Given the description of an element on the screen output the (x, y) to click on. 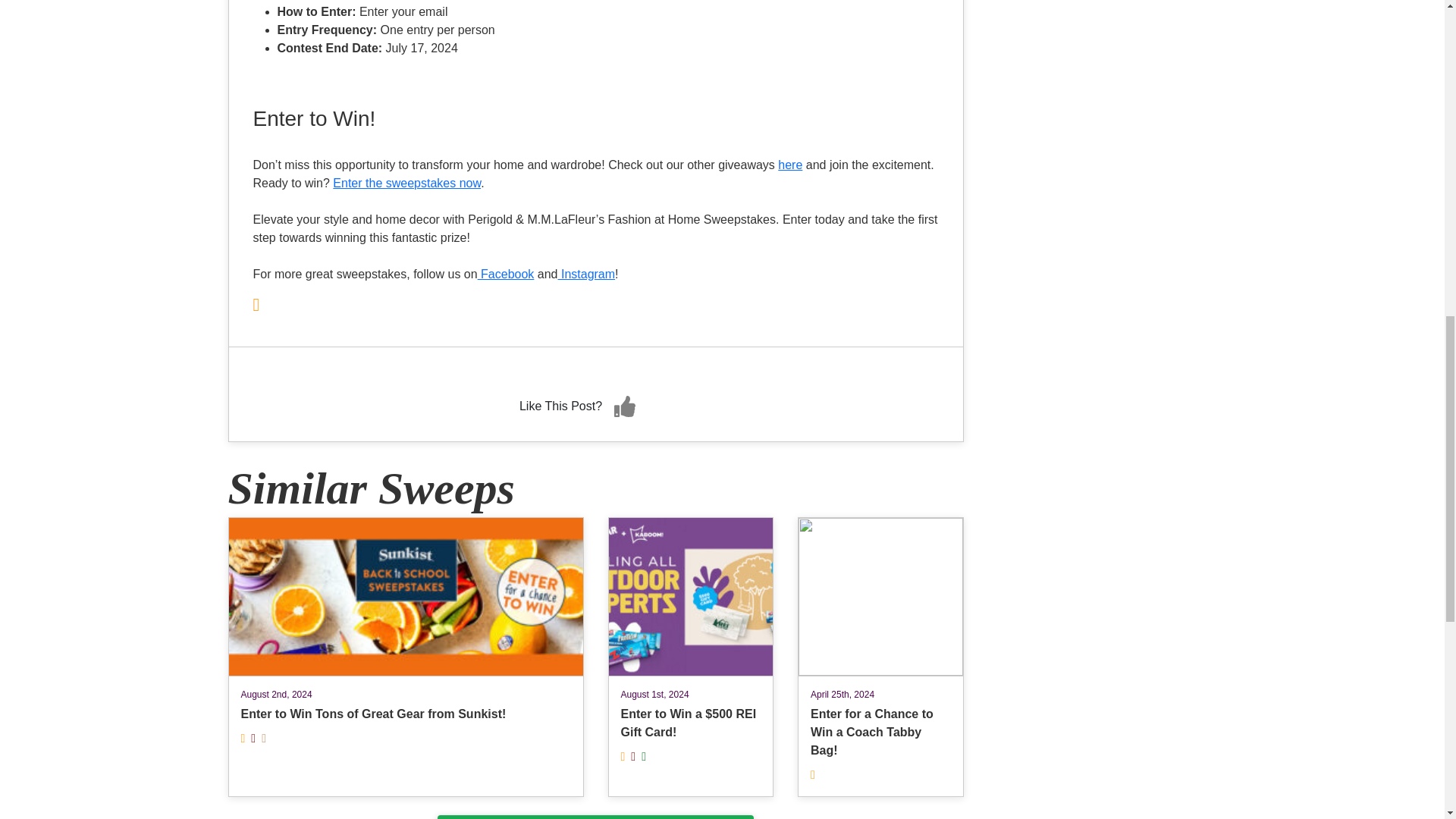
 Facebook (505, 273)
Enter the sweepstakes now (406, 182)
 Instagram (586, 273)
here (789, 164)
See More Sweeps (596, 816)
